Given the description of an element on the screen output the (x, y) to click on. 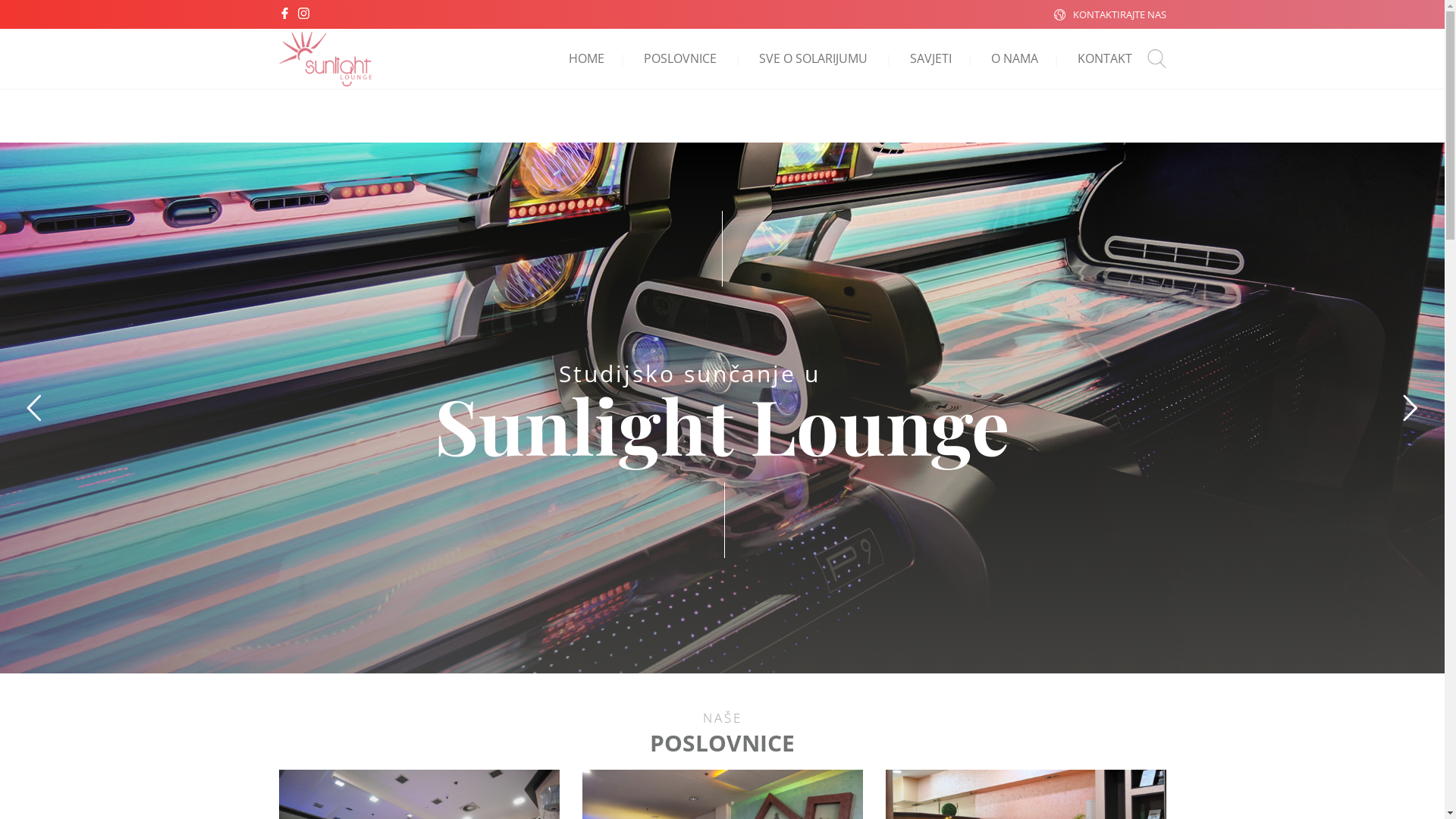
POSLOVNICE Element type: text (679, 58)
O NAMA Element type: text (1013, 58)
HOME Element type: text (586, 58)
SAVJETI Element type: text (930, 58)
Search Element type: text (886, 409)
SVE O SOLARIJUMU Element type: text (812, 58)
KONTAKTIRAJTE NAS Element type: text (1118, 14)
KONTAKT Element type: text (1103, 58)
